Given the description of an element on the screen output the (x, y) to click on. 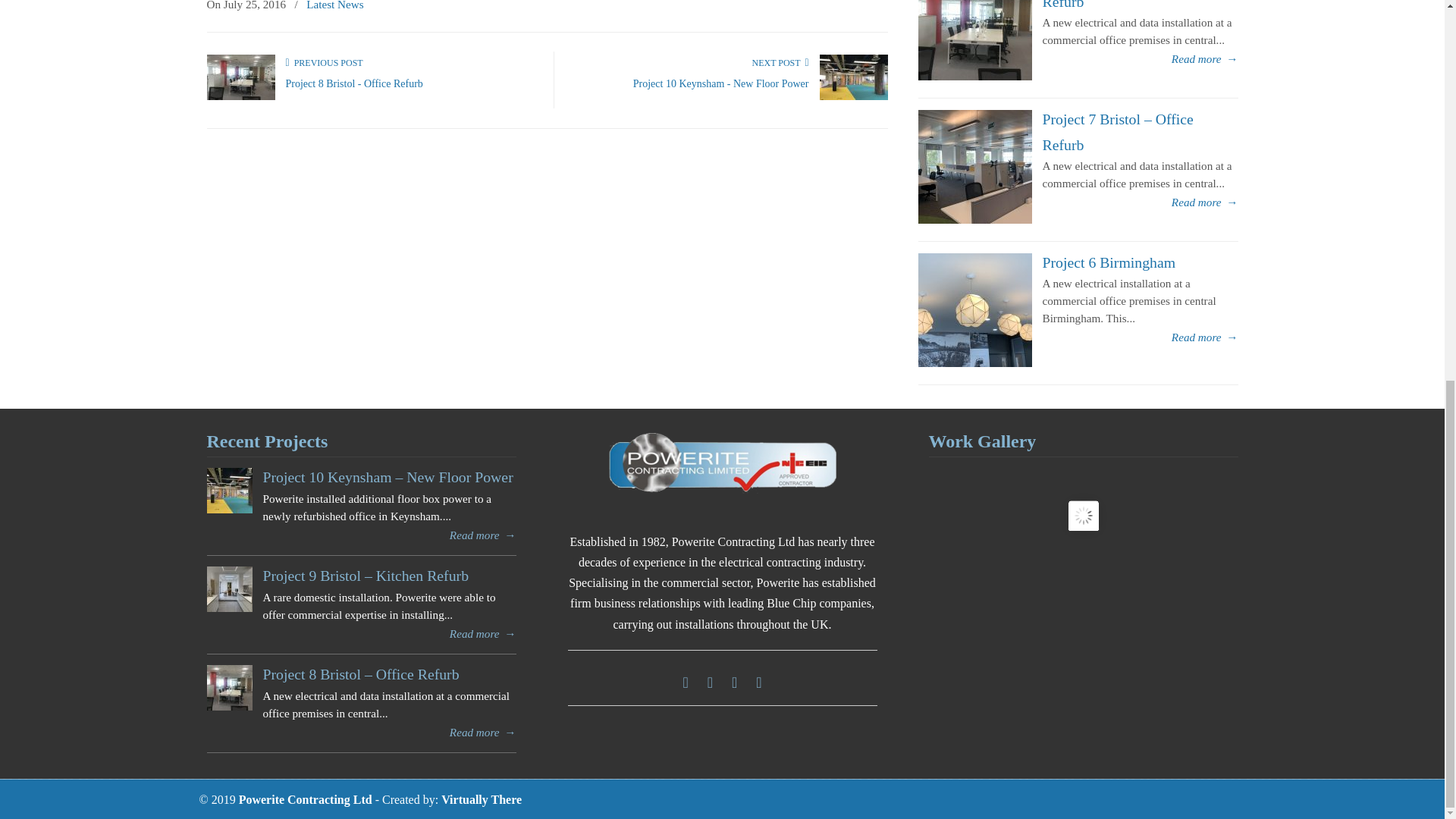
Go to previous post (323, 62)
Project 10 Keynsham - New Floor Power (721, 83)
Project 10 Keynsham - New Floor Power (721, 83)
NEXT POST   (779, 62)
Latest News (334, 7)
 PREVIOUS POST (323, 62)
Go to next post (779, 62)
Project 8 Bristol - Office Refurb (353, 83)
Project 6 Birmingham (1108, 262)
Project 8 Bristol - Office Refurb (353, 83)
